Given the description of an element on the screen output the (x, y) to click on. 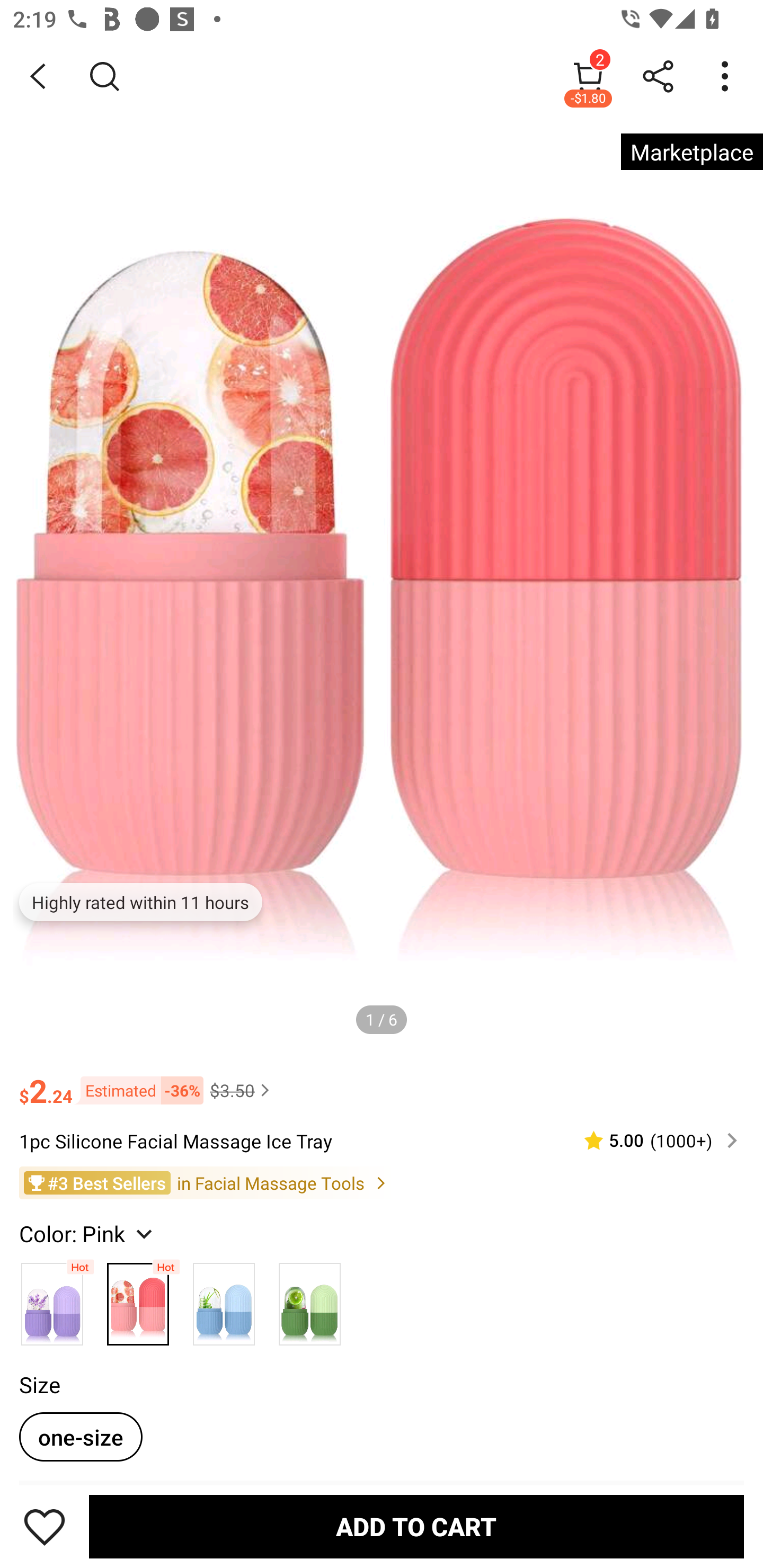
BACK (38, 75)
2 -$1.80 (588, 75)
1 / 6 (381, 1018)
$2.24 Estimated -36% $3.50 (381, 1082)
Estimated -36% (137, 1089)
$3.50 (241, 1090)
5.00 (1000‎+) (653, 1139)
#3 Best Sellers in Facial Massage Tools (381, 1182)
Color: Pink (88, 1233)
Multicolor (52, 1299)
Pink (138, 1299)
Baby Blue (224, 1299)
Green (309, 1299)
Size (39, 1384)
one-size one-sizeselected option (80, 1436)
ADD TO CART (416, 1526)
Save (44, 1526)
